Given the description of an element on the screen output the (x, y) to click on. 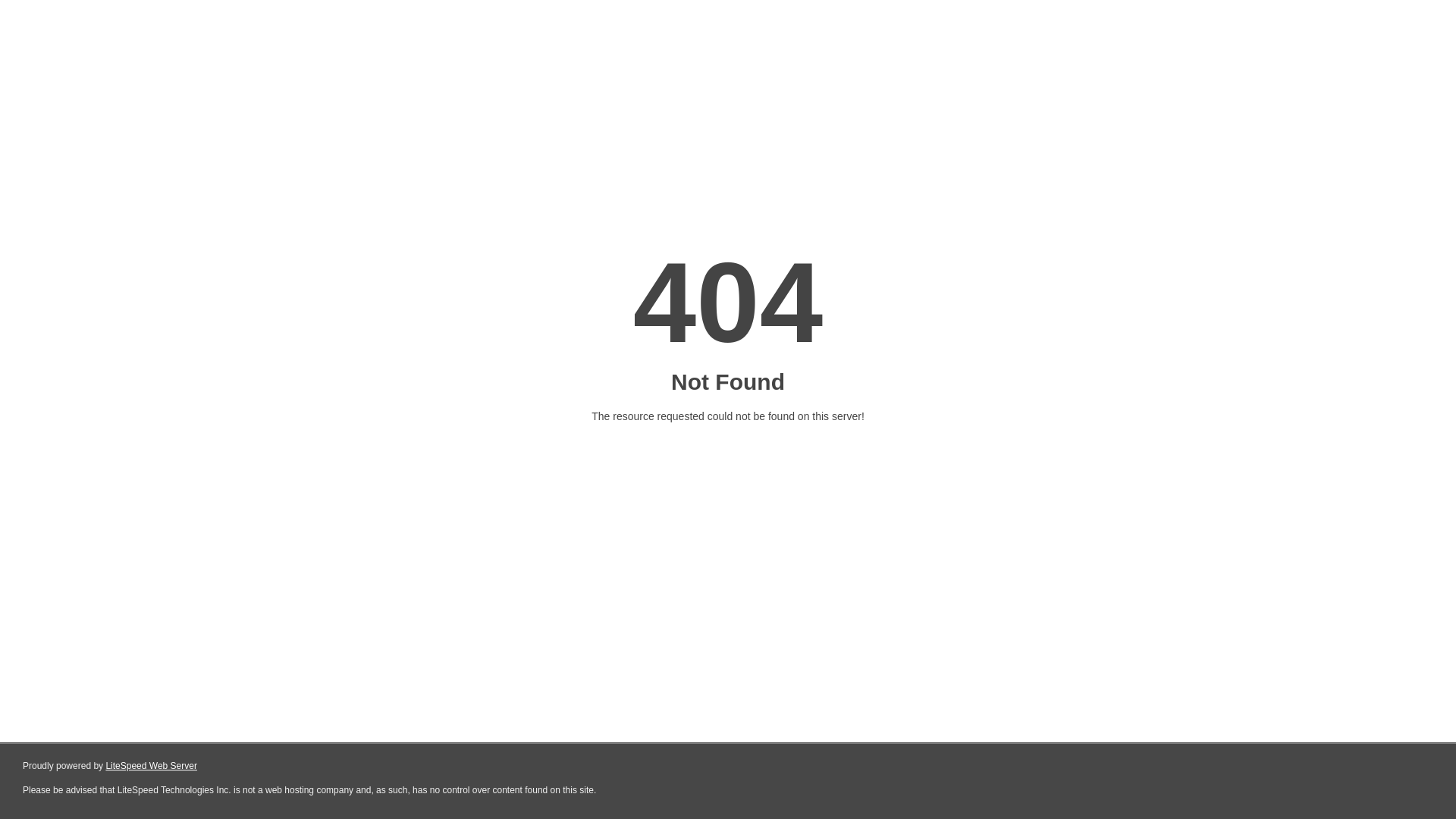
LiteSpeed Web Server Element type: text (151, 765)
